Given the description of an element on the screen output the (x, y) to click on. 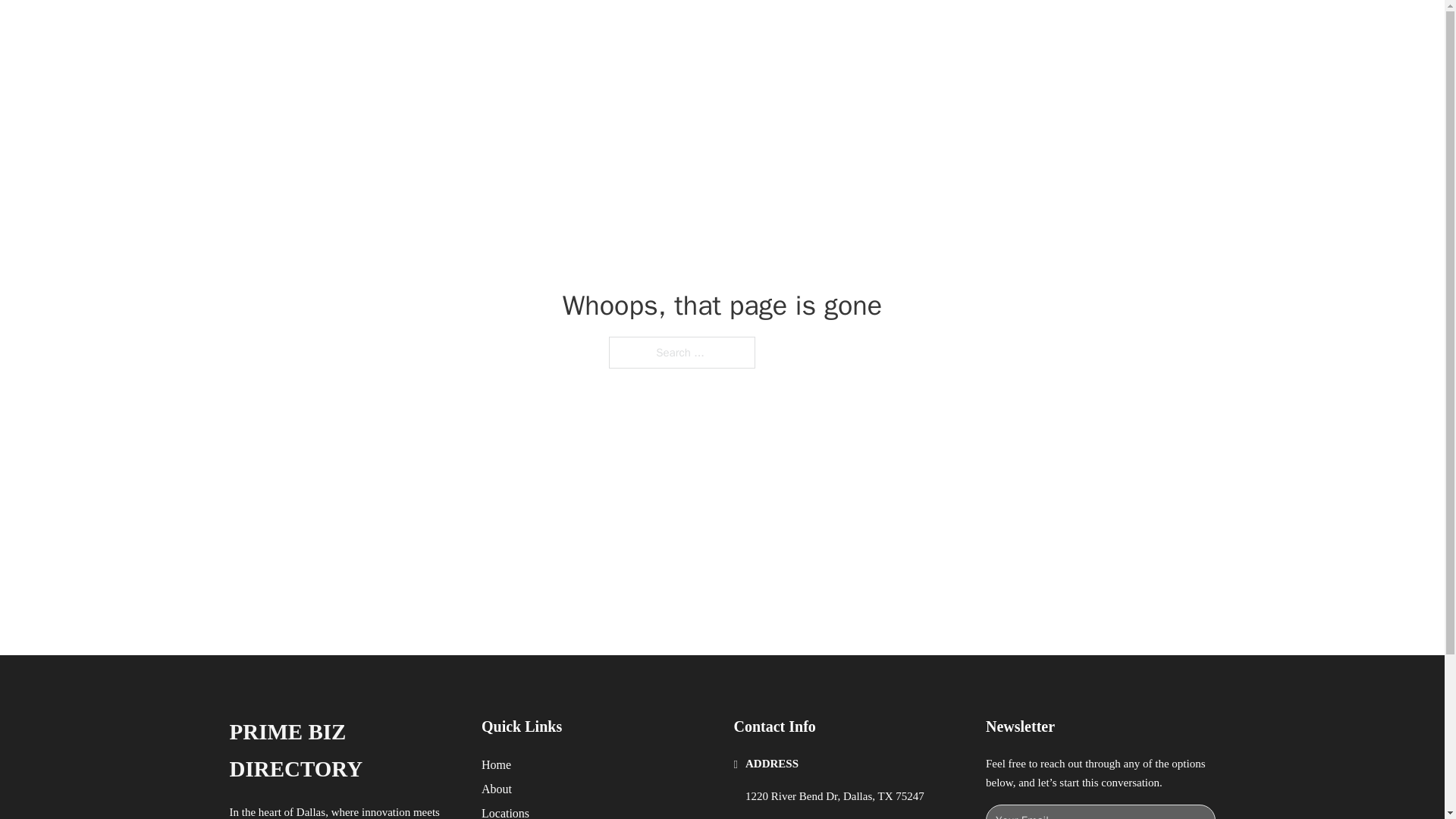
PRIME BIZ DIRECTORY (343, 750)
PRIME BIZ DIRECTORY (421, 28)
HOME (919, 29)
Home (496, 764)
LOCATIONS (990, 29)
Locations (505, 811)
About (496, 788)
